Given the description of an element on the screen output the (x, y) to click on. 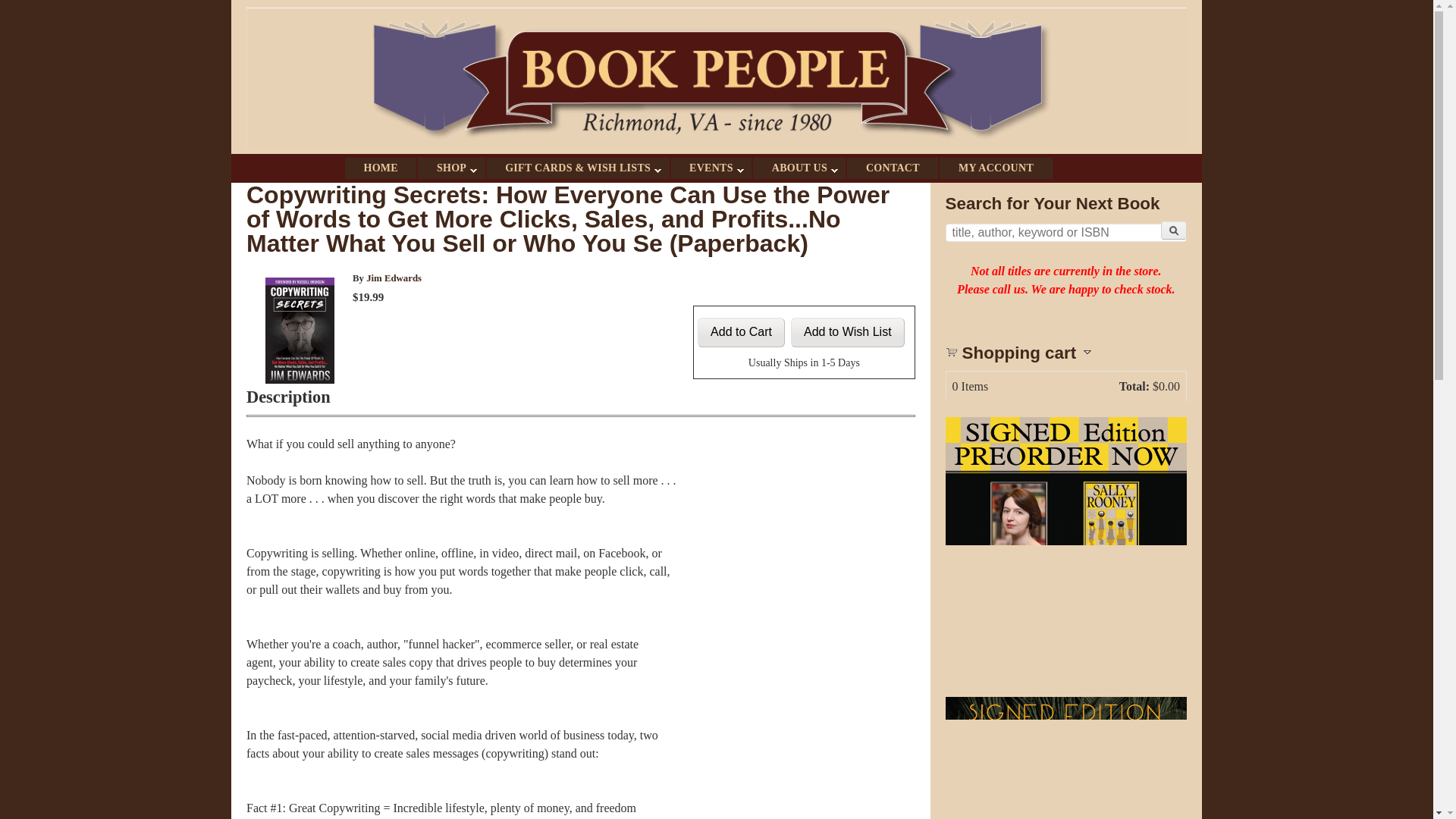
CONTACT (892, 168)
MY ACCOUNT (995, 168)
Home page (716, 144)
Add to Wish List (847, 332)
Search (1173, 230)
Add to Cart (740, 332)
Search (1173, 230)
Jim Edwards (394, 277)
Add to Cart (740, 332)
HOME (380, 168)
